Given the description of an element on the screen output the (x, y) to click on. 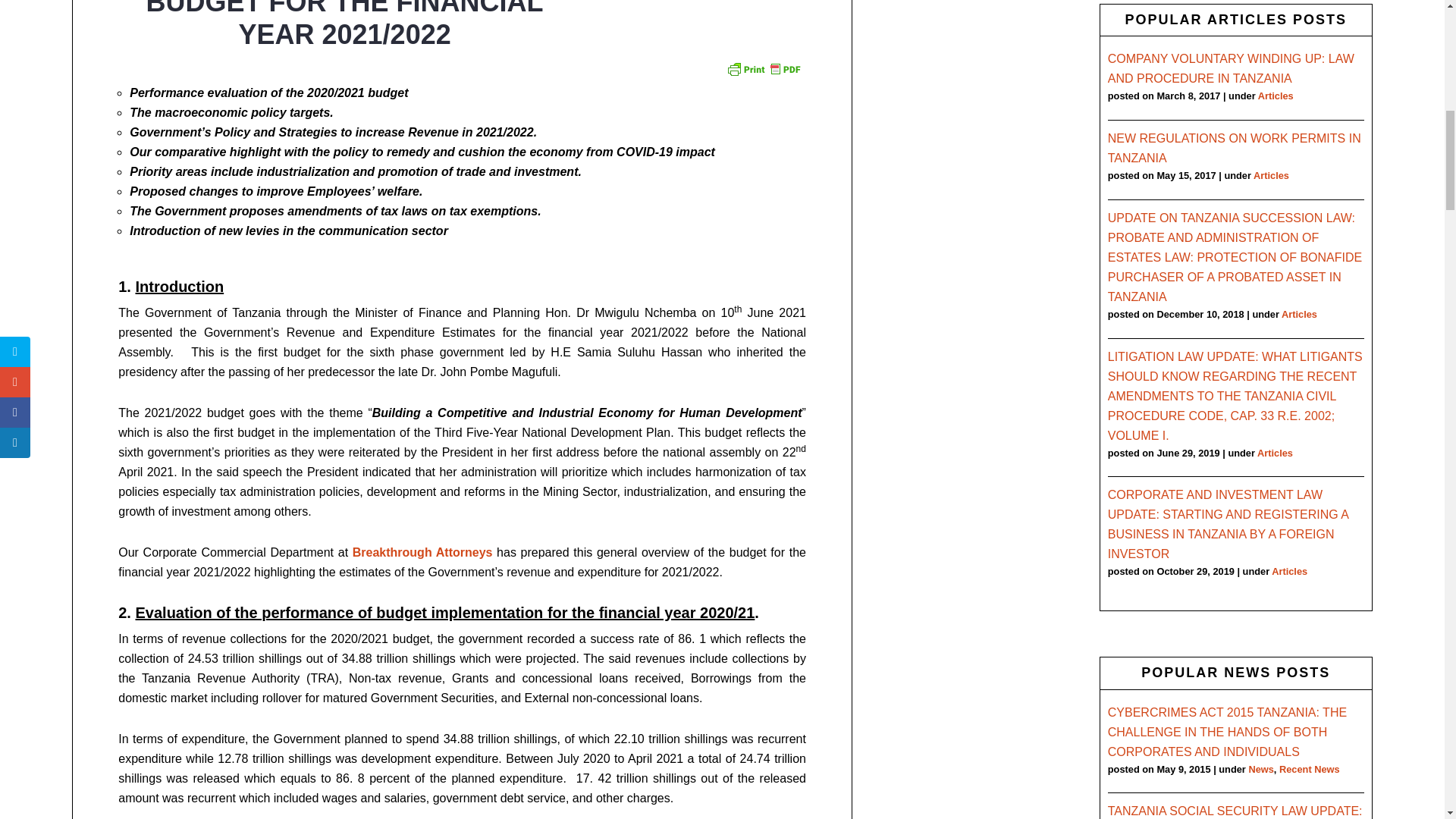
NEW REGULATIONS ON WORK PERMITS IN TANZANIA (1234, 147)
NEW REGULATIONS ON WORK PERMITS IN TANZANIA (1234, 147)
Articles (1270, 174)
COMPANY VOLUNTARY WINDING UP: LAW AND PROCEDURE IN TANZANIA (1231, 68)
COMPANY VOLUNTARY WINDING UP: LAW AND PROCEDURE IN TANZANIA (1231, 68)
Articles (1275, 95)
